Given the description of an element on the screen output the (x, y) to click on. 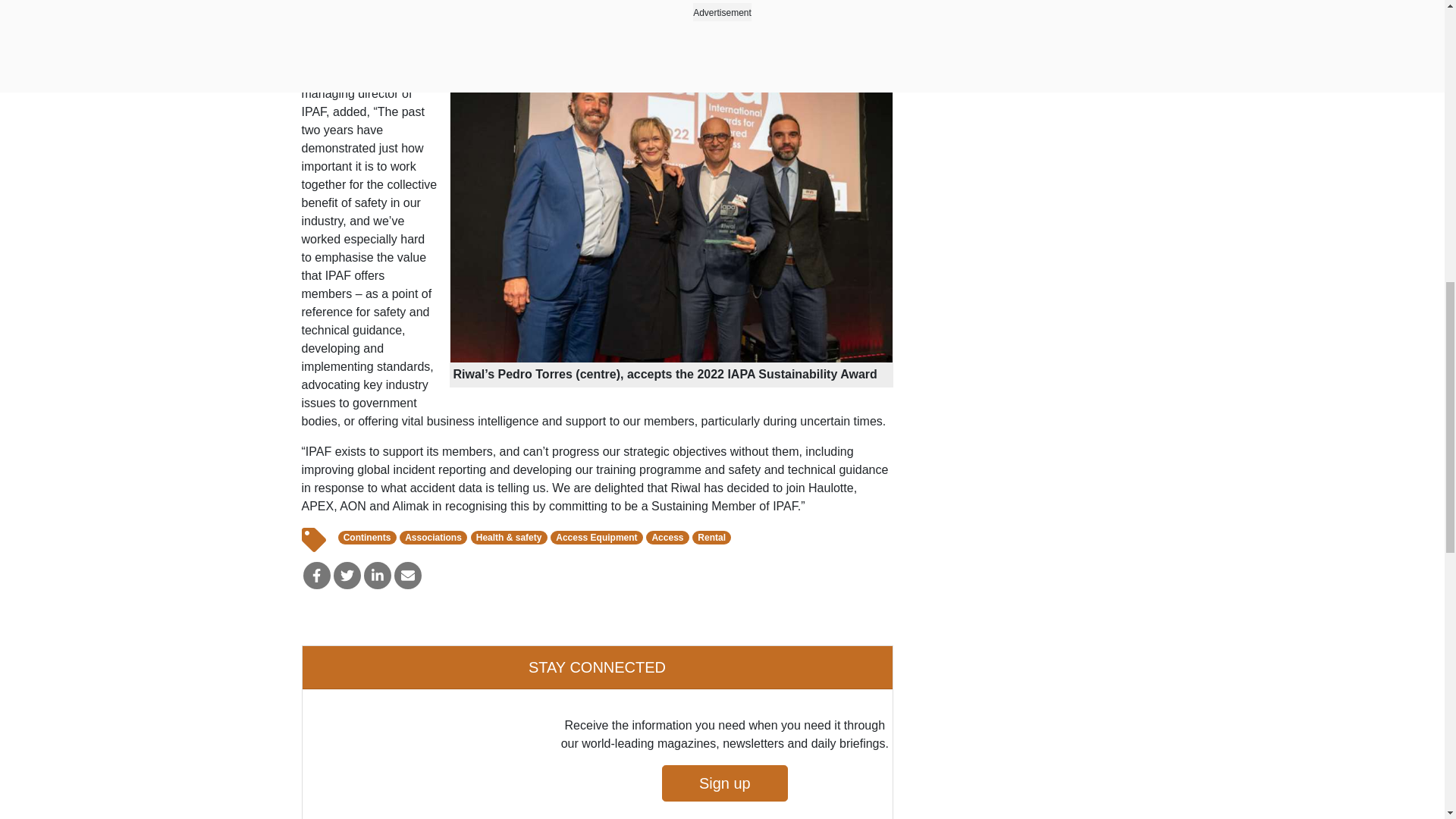
Share this page on Linkedin (377, 574)
Share this page on Twitter (347, 574)
Share this page on Facebook (316, 574)
Share this page via email (408, 574)
